Given the description of an element on the screen output the (x, y) to click on. 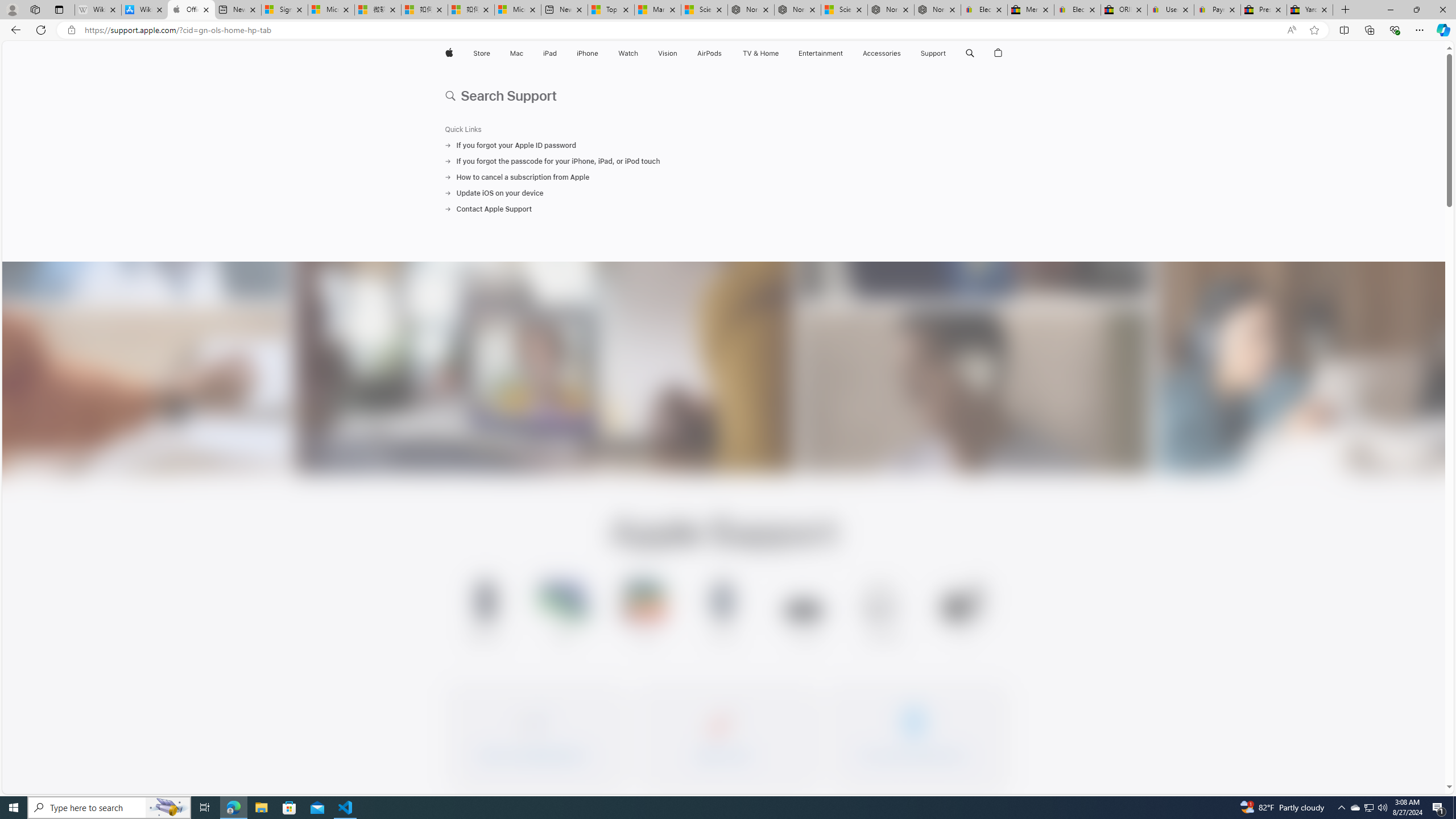
Accessories menu (903, 53)
Billing and subscriptions (914, 734)
Support menu (948, 53)
iPad Support (643, 612)
Apple (448, 53)
Search Support (969, 53)
iPad menu (557, 53)
iPad (550, 53)
Accessories (881, 53)
